Given the description of an element on the screen output the (x, y) to click on. 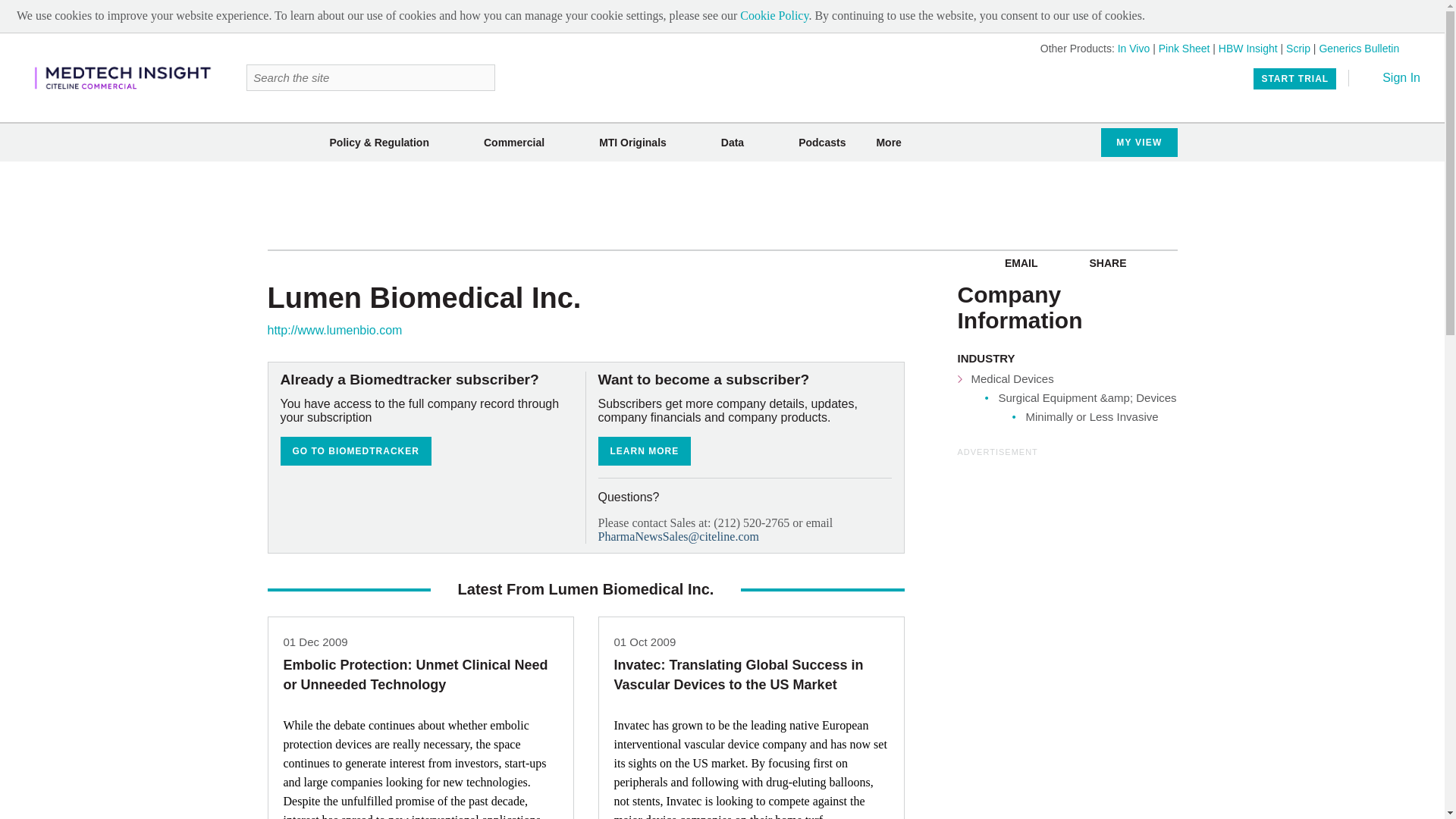
In Vivo (1134, 48)
Generics Bulletin (1359, 48)
HBW Insight (1248, 48)
Sign In (1391, 77)
Commercial (513, 142)
START TRIAL (1294, 78)
Pink Sheet (1183, 48)
Cookie Policy (773, 15)
3rd party ad content (722, 205)
Scrip (1297, 48)
3rd party ad content (1070, 554)
